Given the description of an element on the screen output the (x, y) to click on. 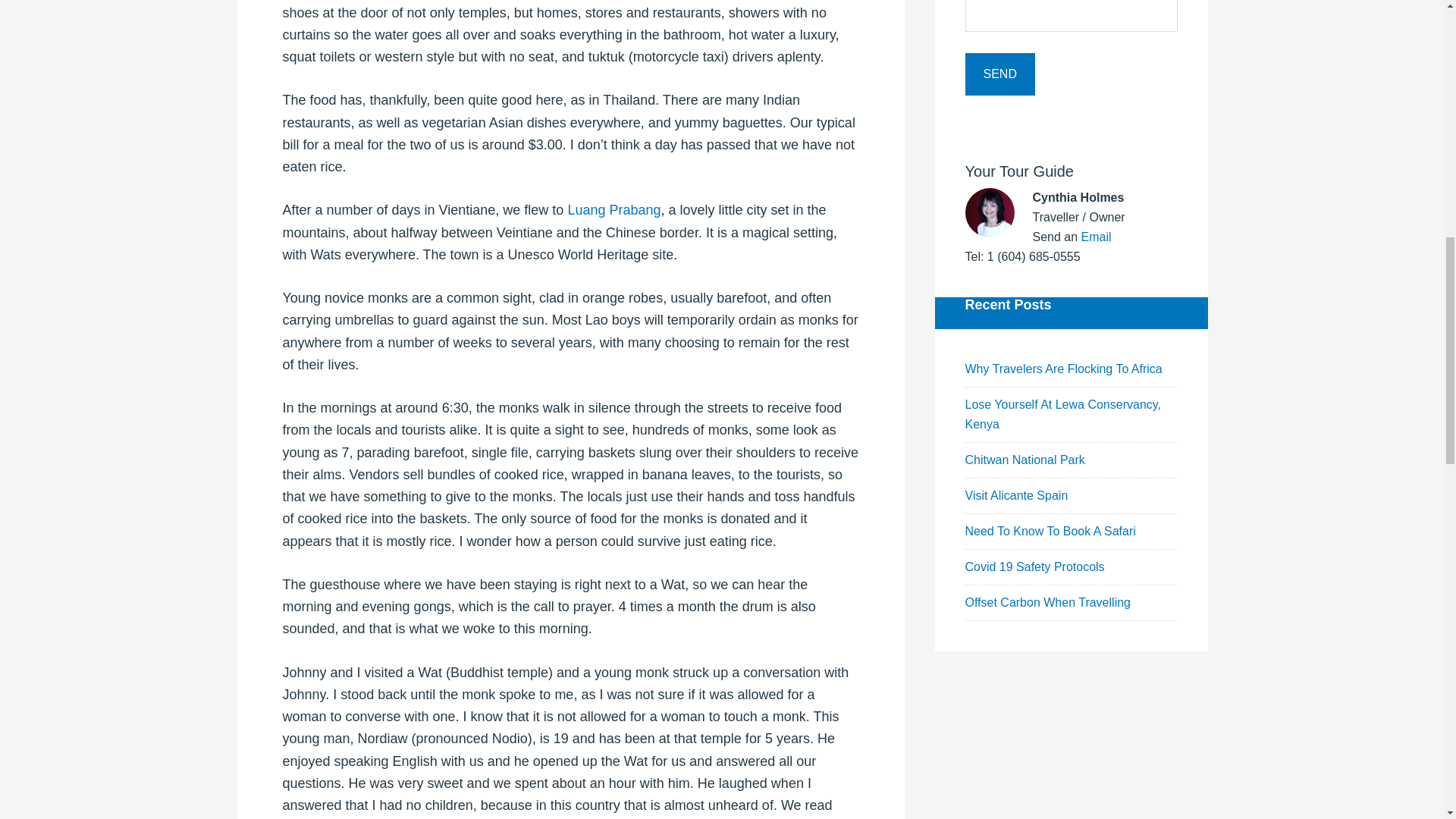
Luang Prabang (614, 209)
Send (998, 74)
Send (998, 74)
Chitwan National Park (1023, 459)
Email (1096, 236)
Visit Alicante Spain (1015, 495)
Offset Carbon When Travelling (1046, 602)
Covid 19 Safety Protocols (1033, 566)
Why Travelers Are Flocking To Africa (1062, 368)
Need To Know To Book A Safari (1049, 530)
